Given the description of an element on the screen output the (x, y) to click on. 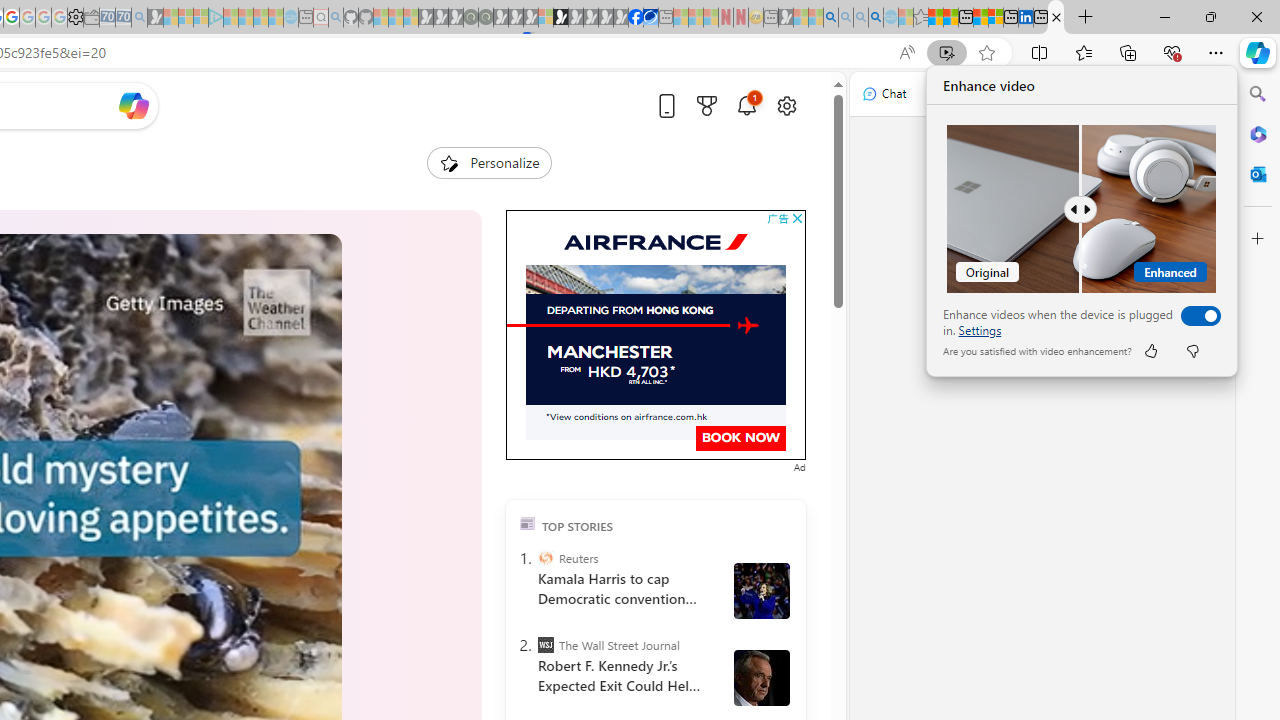
To get missing image descriptions, open the context menu. (748, 325)
Cheap Car Rentals - Save70.com - Sleeping (123, 17)
Home | Sky Blue Bikes - Sky Blue Bikes - Sleeping (291, 17)
Google Chrome Internet Browser Download - Search Images (876, 17)
LinkedIn (1025, 17)
